Given the description of an element on the screen output the (x, y) to click on. 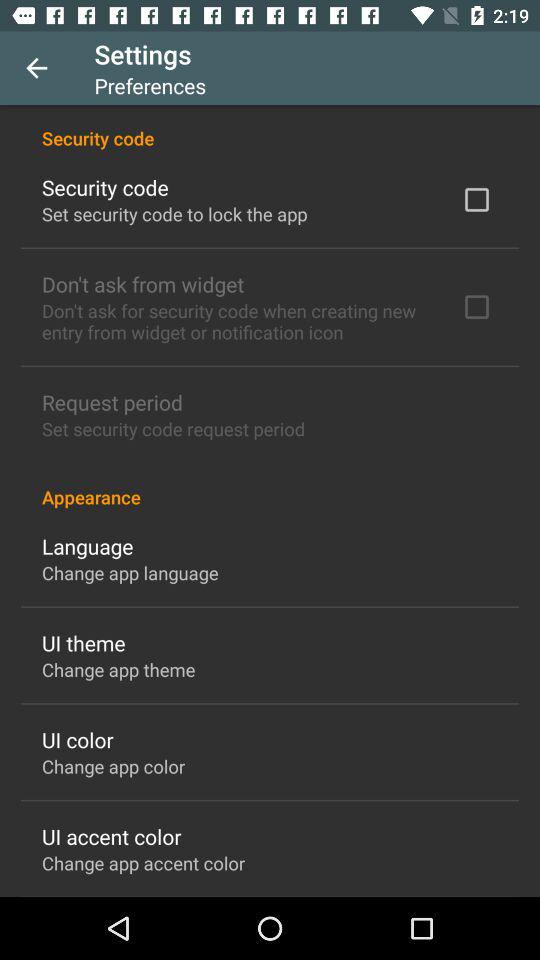
open icon below set security code icon (270, 486)
